Given the description of an element on the screen output the (x, y) to click on. 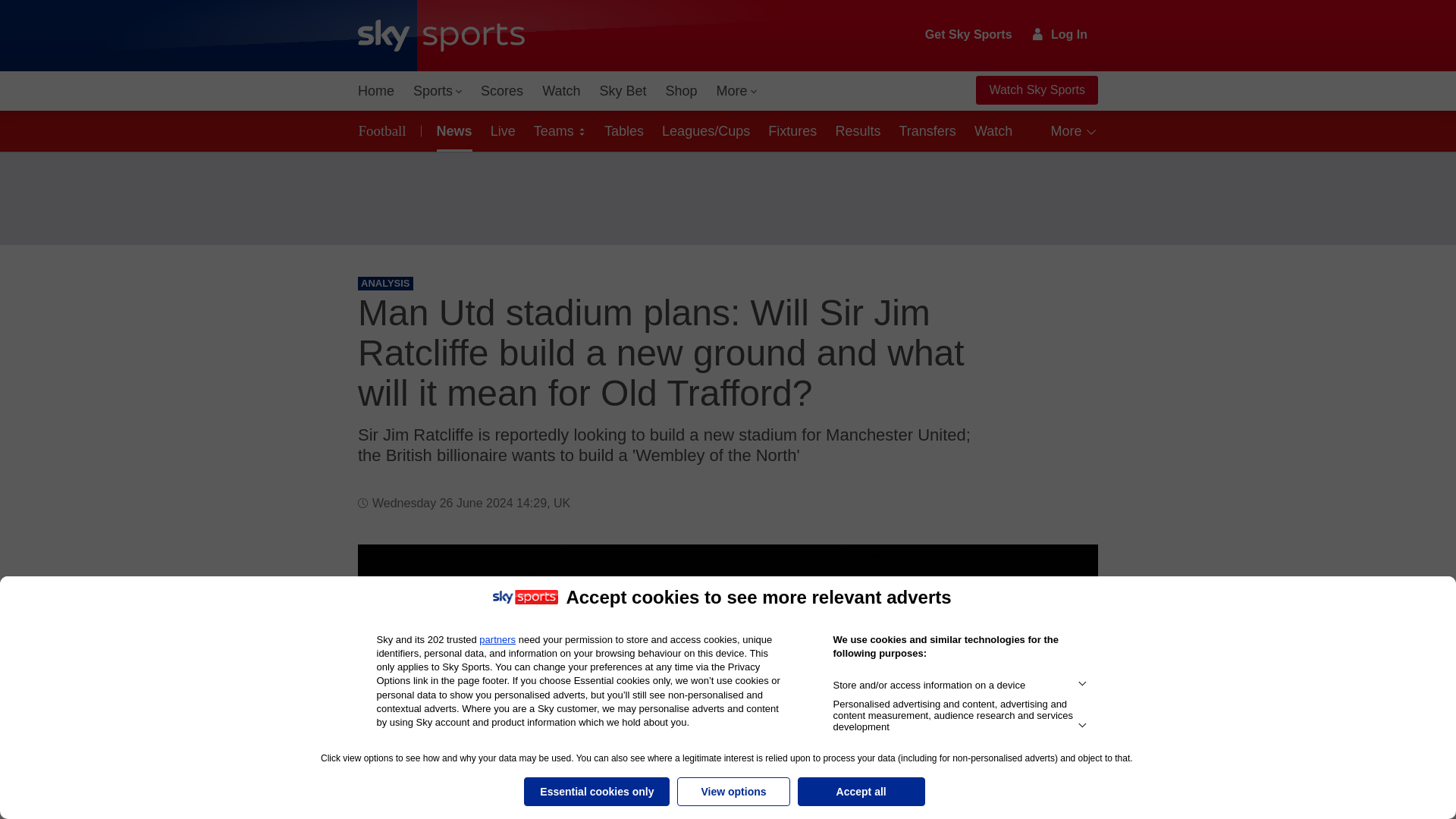
Sports (437, 91)
Share (1067, 574)
More (736, 91)
Get Sky Sports (968, 34)
Home (375, 91)
Football (385, 130)
News (451, 130)
Log In (1060, 33)
Scores (502, 91)
Sky Bet (622, 91)
Watch Sky Sports (1036, 90)
Watch (561, 91)
Shop (681, 91)
